Given the description of an element on the screen output the (x, y) to click on. 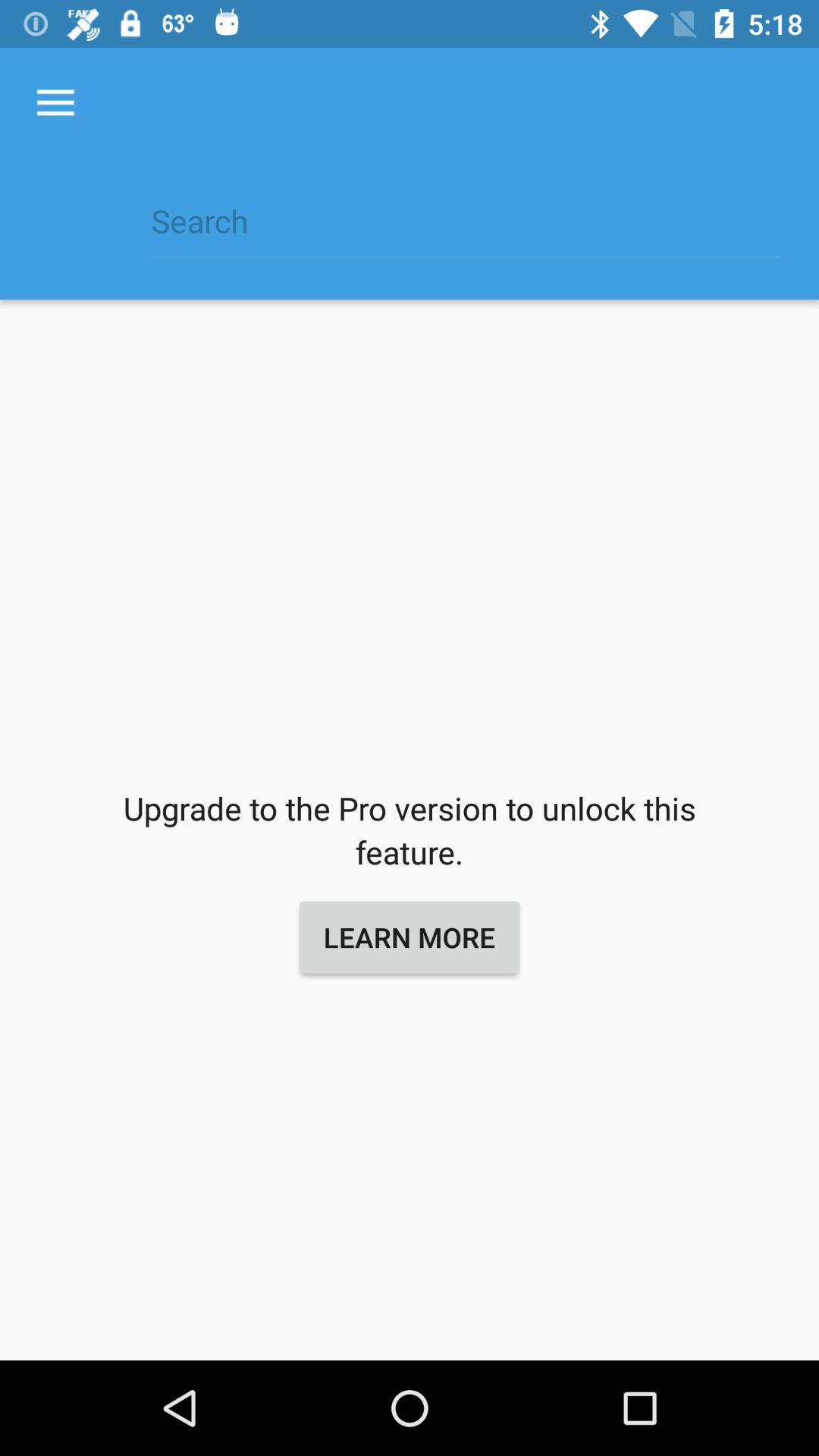
launch the icon at the top (465, 229)
